Given the description of an element on the screen output the (x, y) to click on. 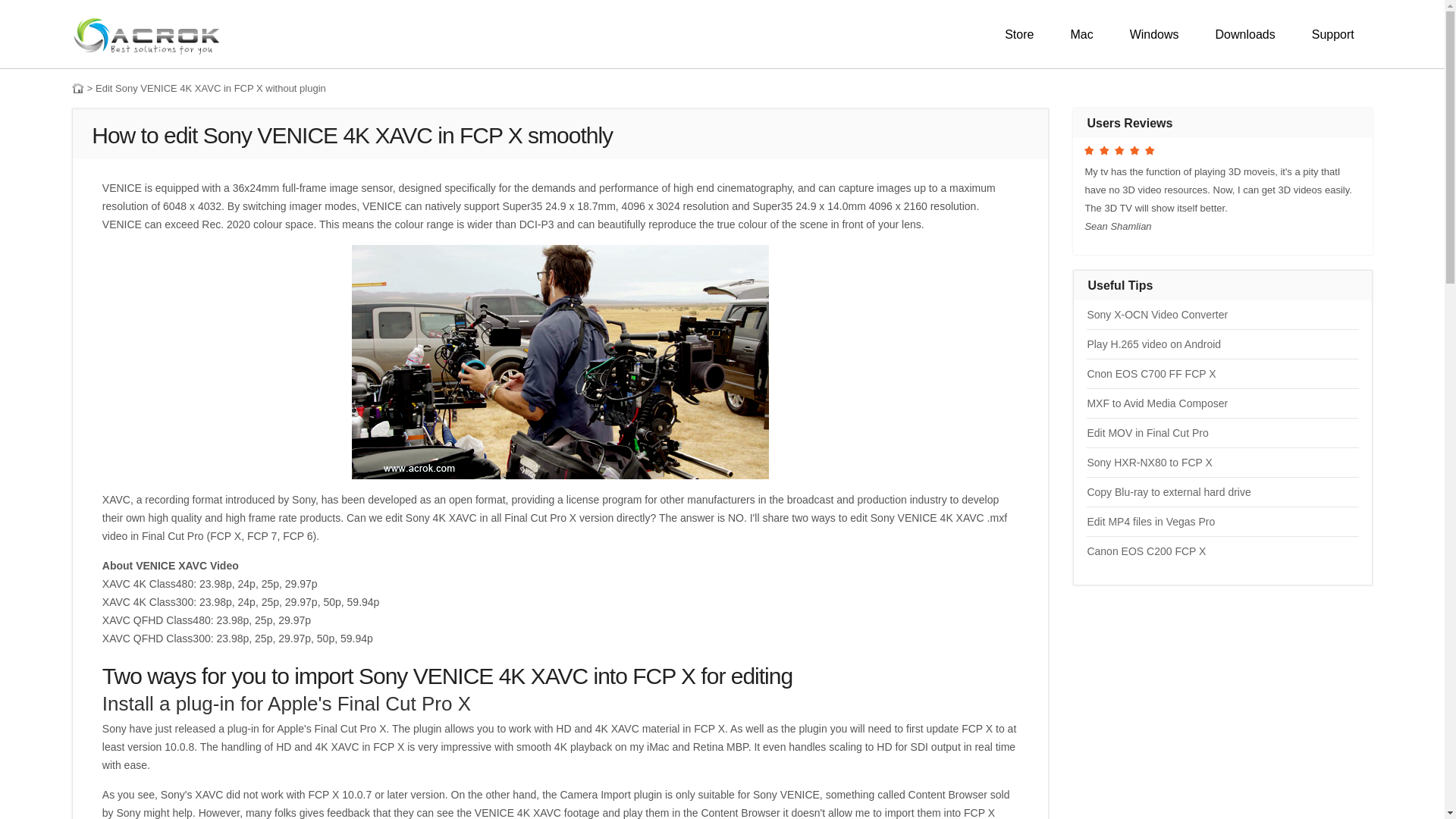
Cnon EOS C700 FF FCP X (1150, 373)
Play H.265 video on Android (1153, 344)
Sony HXR-NX80 to FCP X (1148, 462)
Copy Blu-ray to external hard drive (1168, 491)
Downloads (1245, 34)
Support (1332, 34)
Edit MP4 files in Vegas Pro (1150, 521)
Canon EOS C200 FCP X (1145, 551)
Sony X-OCN Video Converter (1156, 314)
Edit MOV in Final Cut Pro (1147, 432)
